Given the description of an element on the screen output the (x, y) to click on. 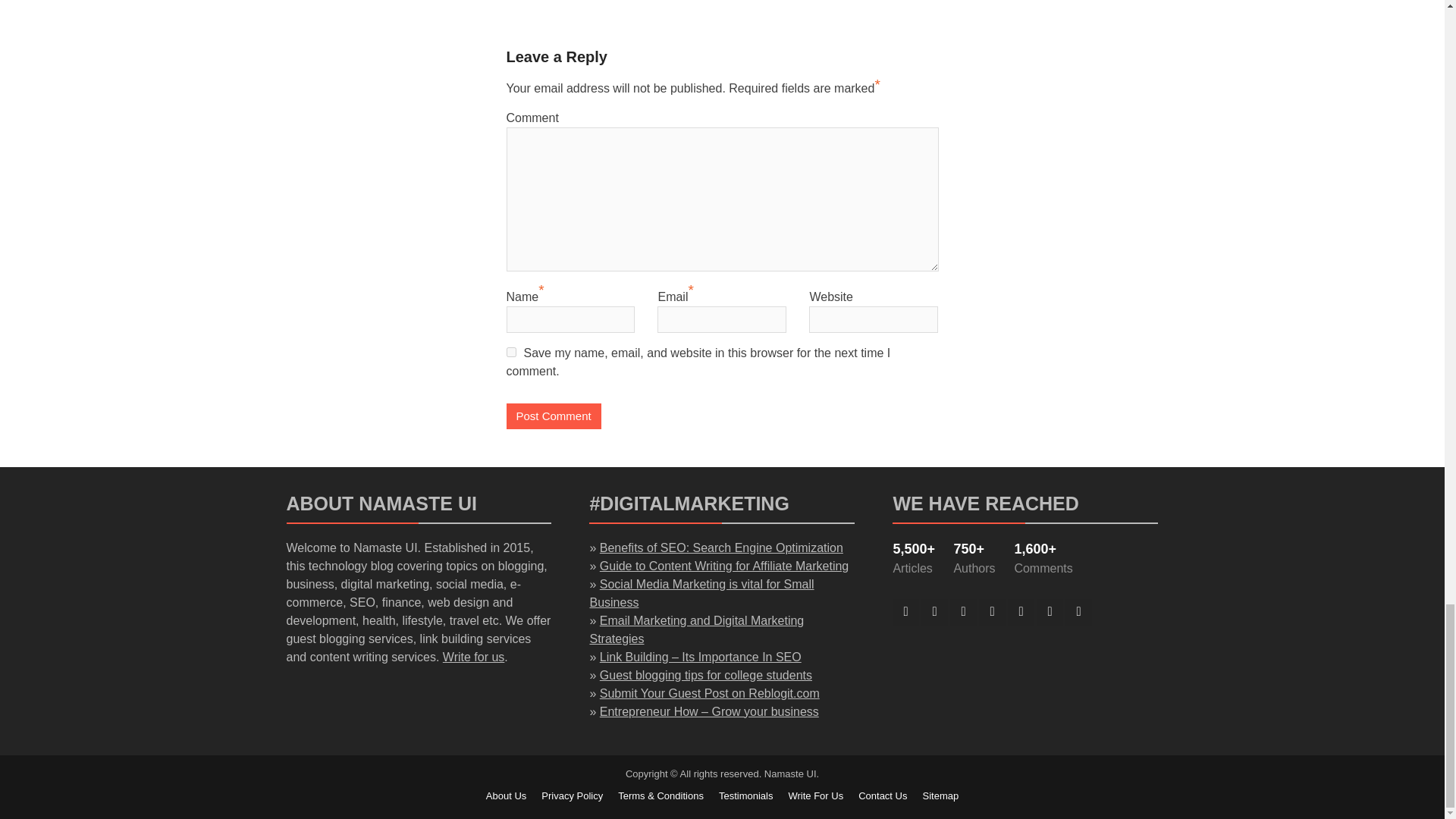
yes (511, 352)
Post Comment (553, 416)
